Given the description of an element on the screen output the (x, y) to click on. 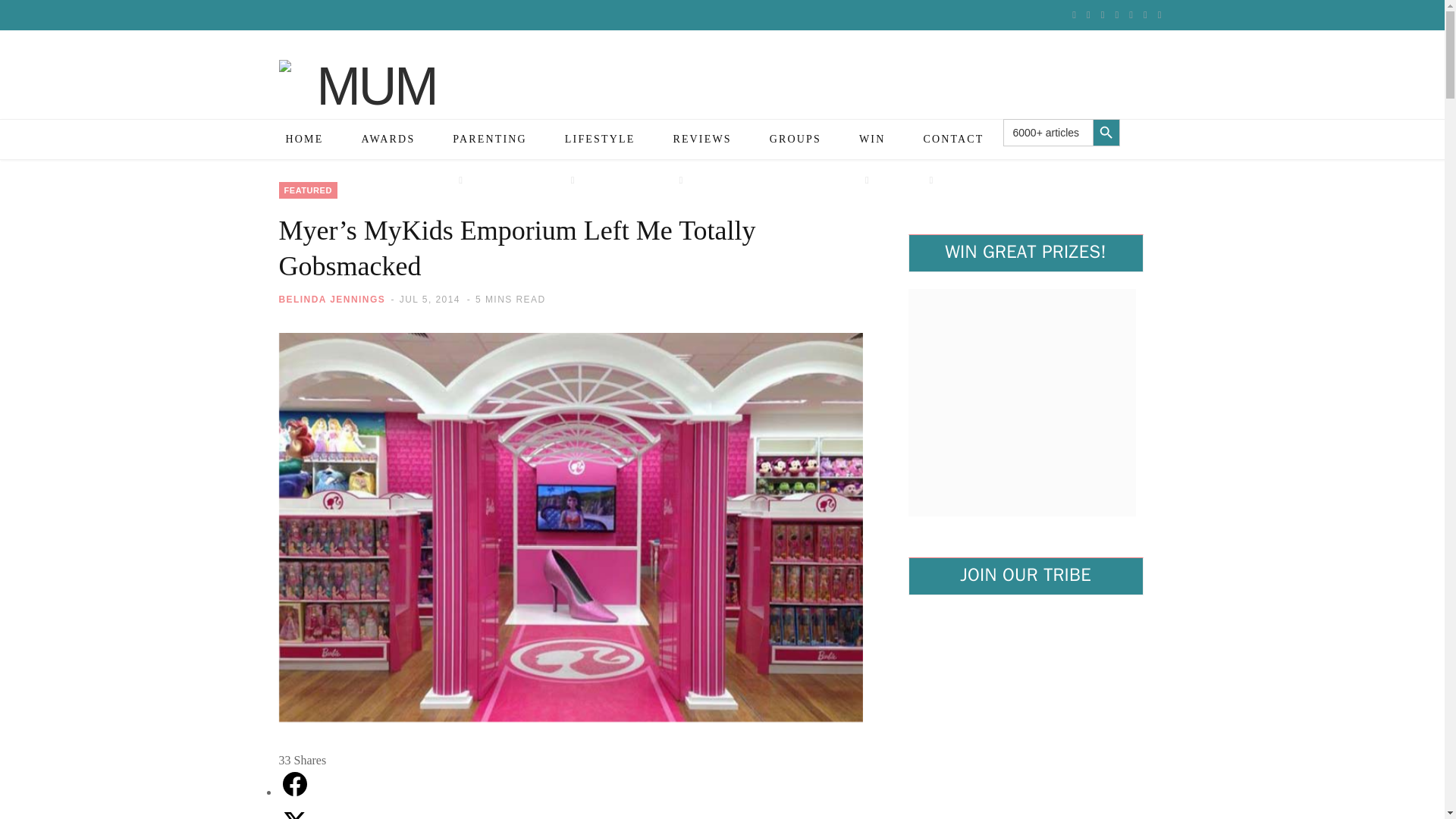
Posts by Belinda Jennings (332, 299)
AWARDS (387, 138)
PARENTING (489, 159)
HOME (304, 138)
Mum Central (371, 111)
